Given the description of an element on the screen output the (x, y) to click on. 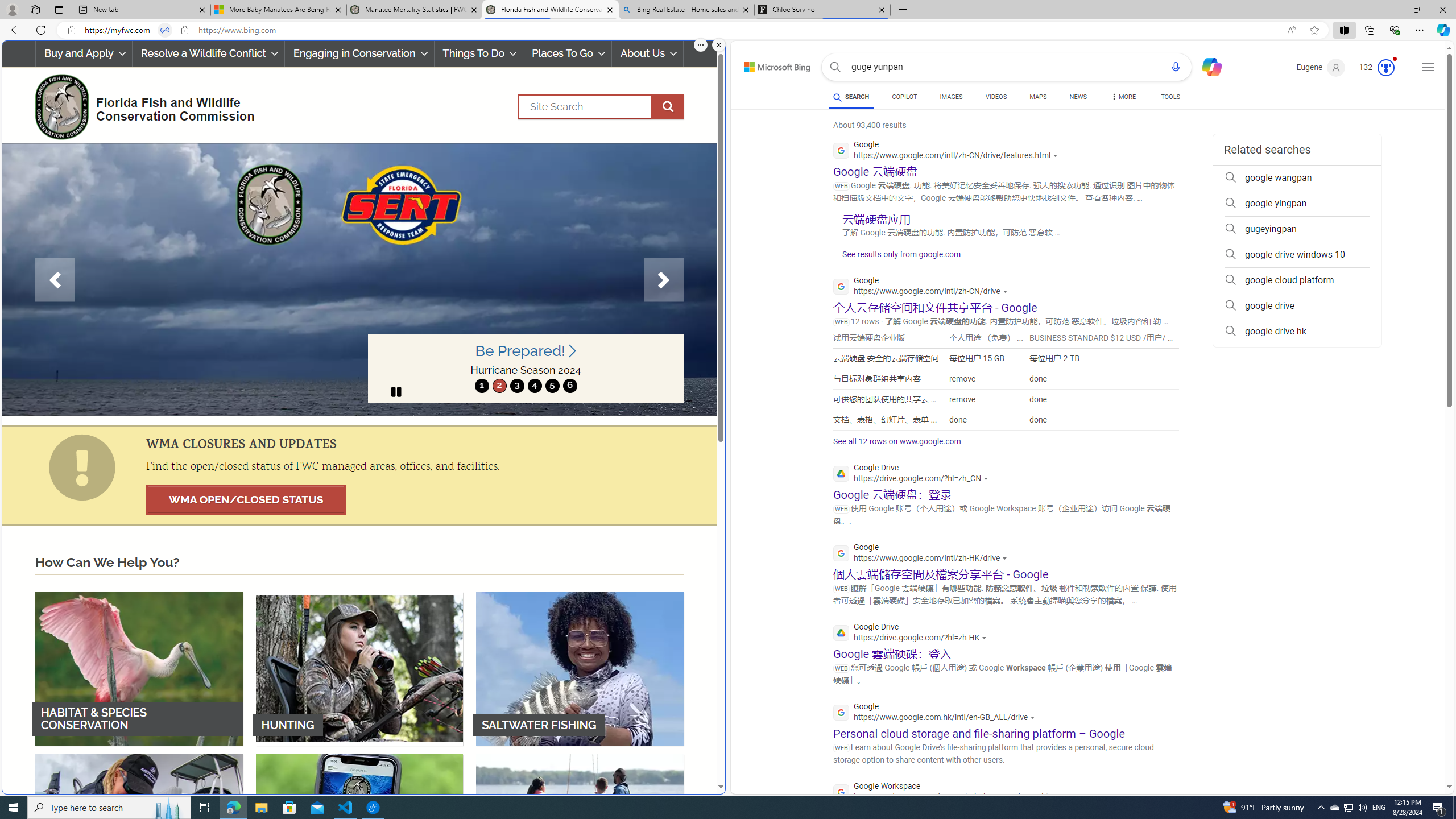
Search (835, 66)
3 (516, 385)
google cloud platform (1297, 280)
Manatee Mortality Statistics | FWC (414, 9)
google yingpan (1297, 203)
Bing Real Estate - Home sales and rental listings (685, 9)
execute site search (667, 106)
Engaging in Conservation (358, 53)
Google Workspace (950, 793)
HABITAT & SPECIES CONSERVATION (138, 668)
Search button (835, 66)
